Given the description of an element on the screen output the (x, y) to click on. 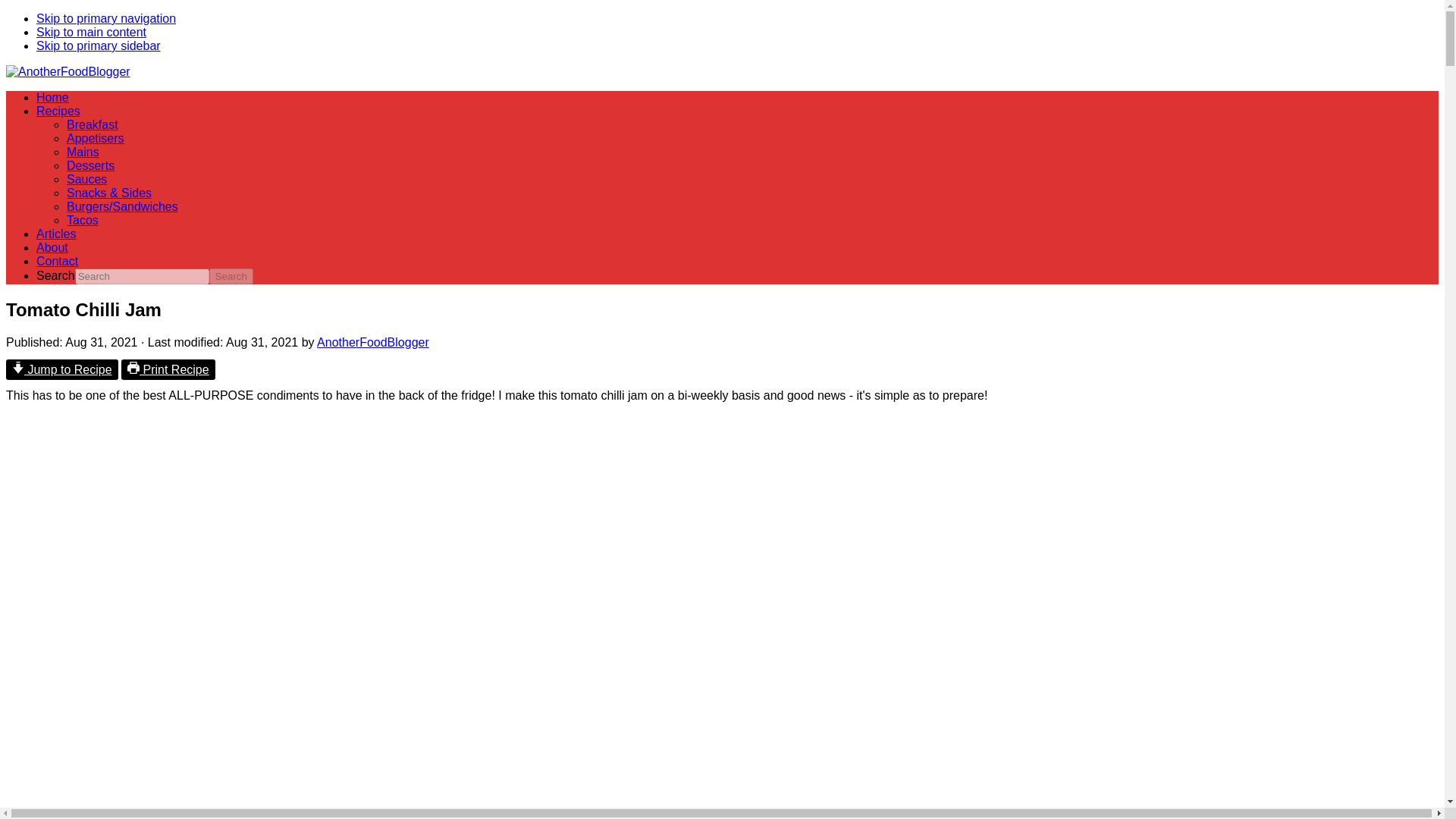
Home (52, 97)
Search (231, 276)
AnotherFoodBlogger (68, 71)
Contact (57, 260)
Skip to primary navigation (106, 18)
Search (231, 276)
About (52, 246)
Skip to main content (91, 31)
Print Recipe (167, 369)
